Given the description of an element on the screen output the (x, y) to click on. 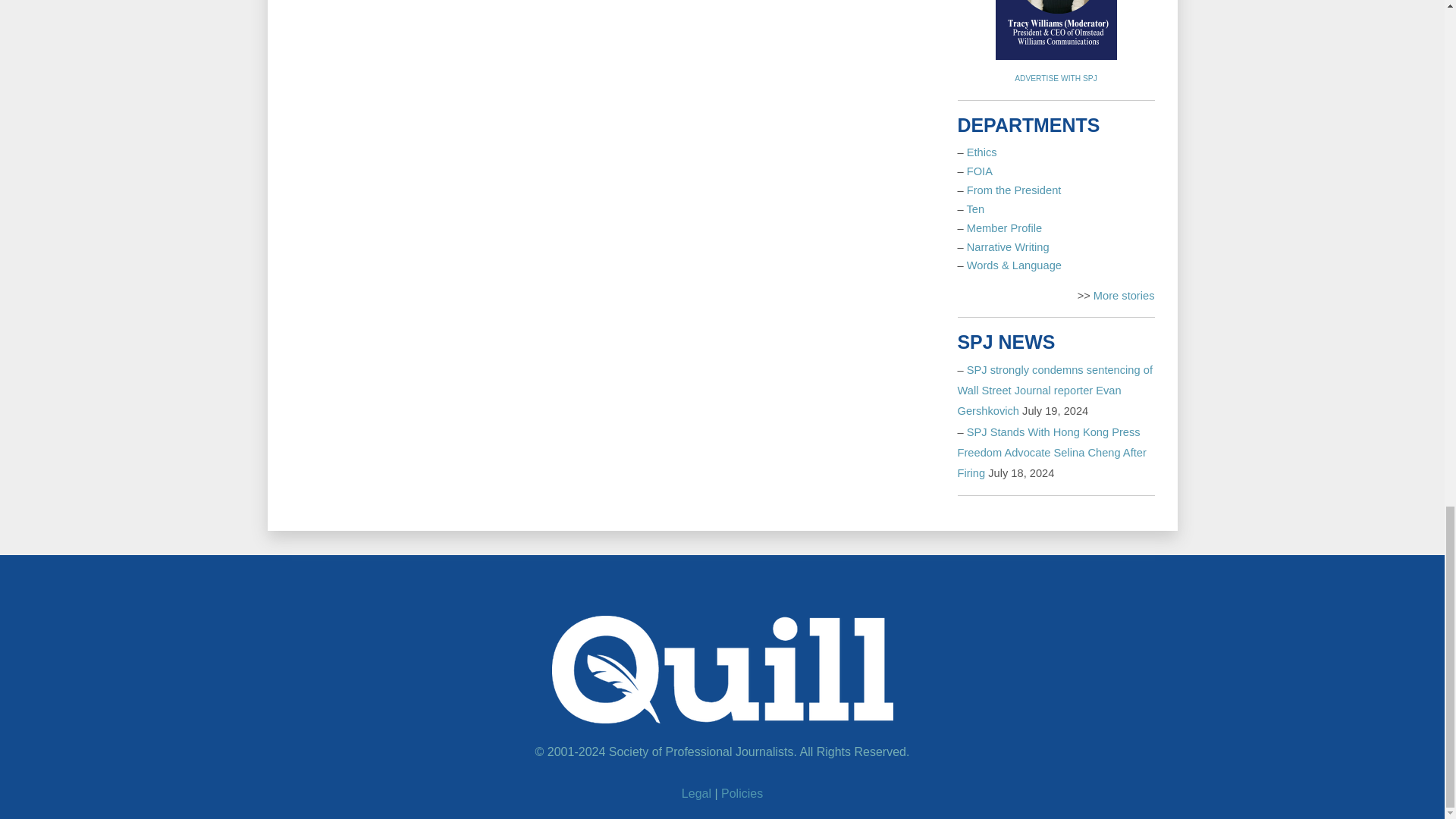
From the President (1013, 190)
ADVERTISE WITH SPJ (1055, 78)
Member Profile (1004, 227)
FOIA (979, 171)
Ethics (981, 152)
Ten (975, 209)
